Given the description of an element on the screen output the (x, y) to click on. 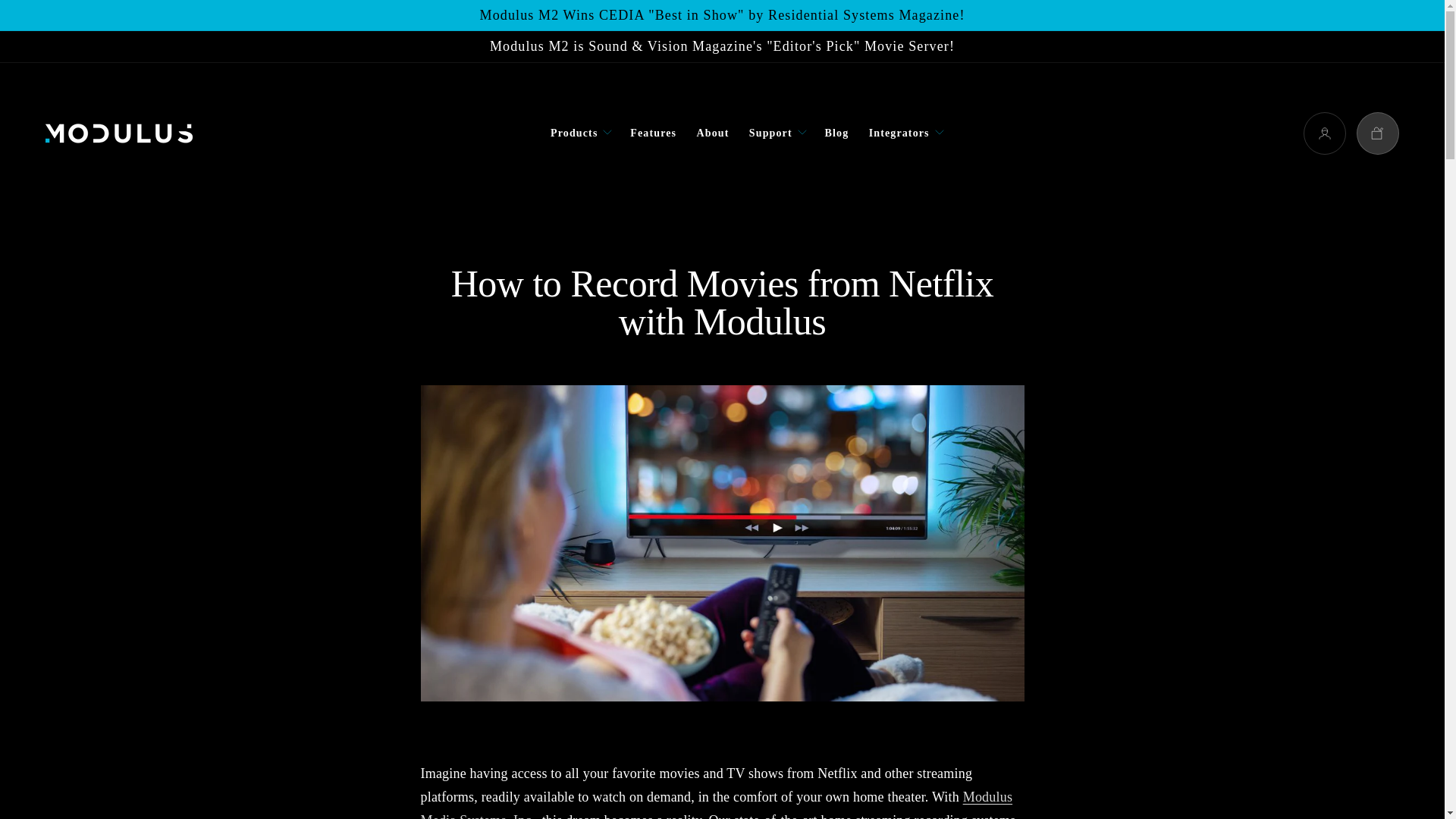
Blog (836, 133)
Skip to content (76, 18)
About (711, 133)
Features (652, 133)
Log in (1324, 133)
Cart (1377, 133)
